Given the description of an element on the screen output the (x, y) to click on. 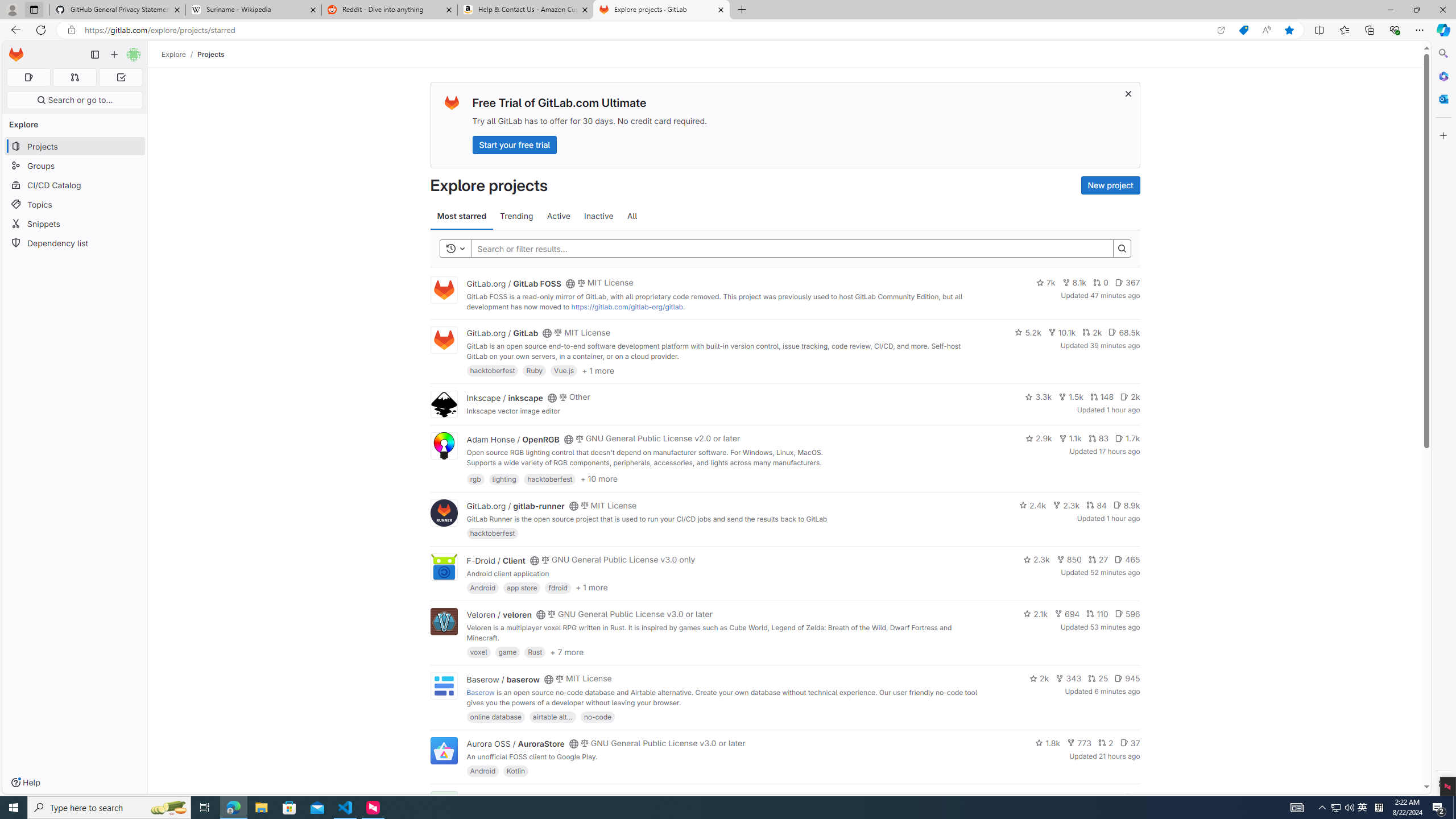
Inkscape / inkscape (504, 397)
27 (1097, 559)
Toggle history (455, 248)
2k (1039, 678)
Projects (211, 53)
hacktoberfest (492, 533)
Groups (74, 165)
Class: s16 gl-icon gl-button-icon  (1127, 93)
2.3k (1035, 559)
no-code (597, 715)
game (507, 651)
945 (1127, 678)
Snippets (74, 223)
